Given the description of an element on the screen output the (x, y) to click on. 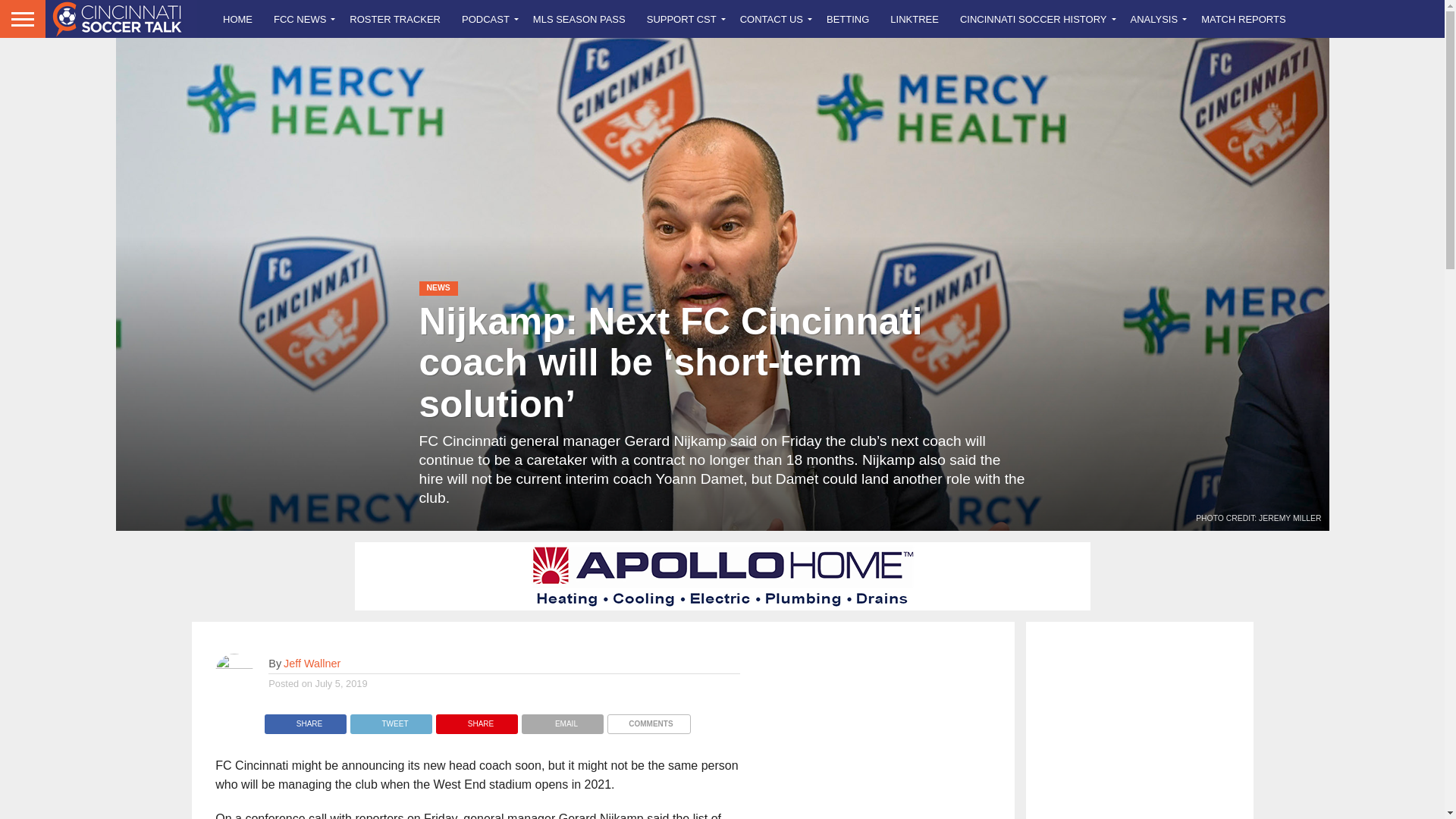
Posts by Jeff Wallner (311, 663)
Pin This Post (476, 719)
Tweet This Post (390, 719)
Share on Facebook (305, 719)
Advertisement (1138, 726)
